Given the description of an element on the screen output the (x, y) to click on. 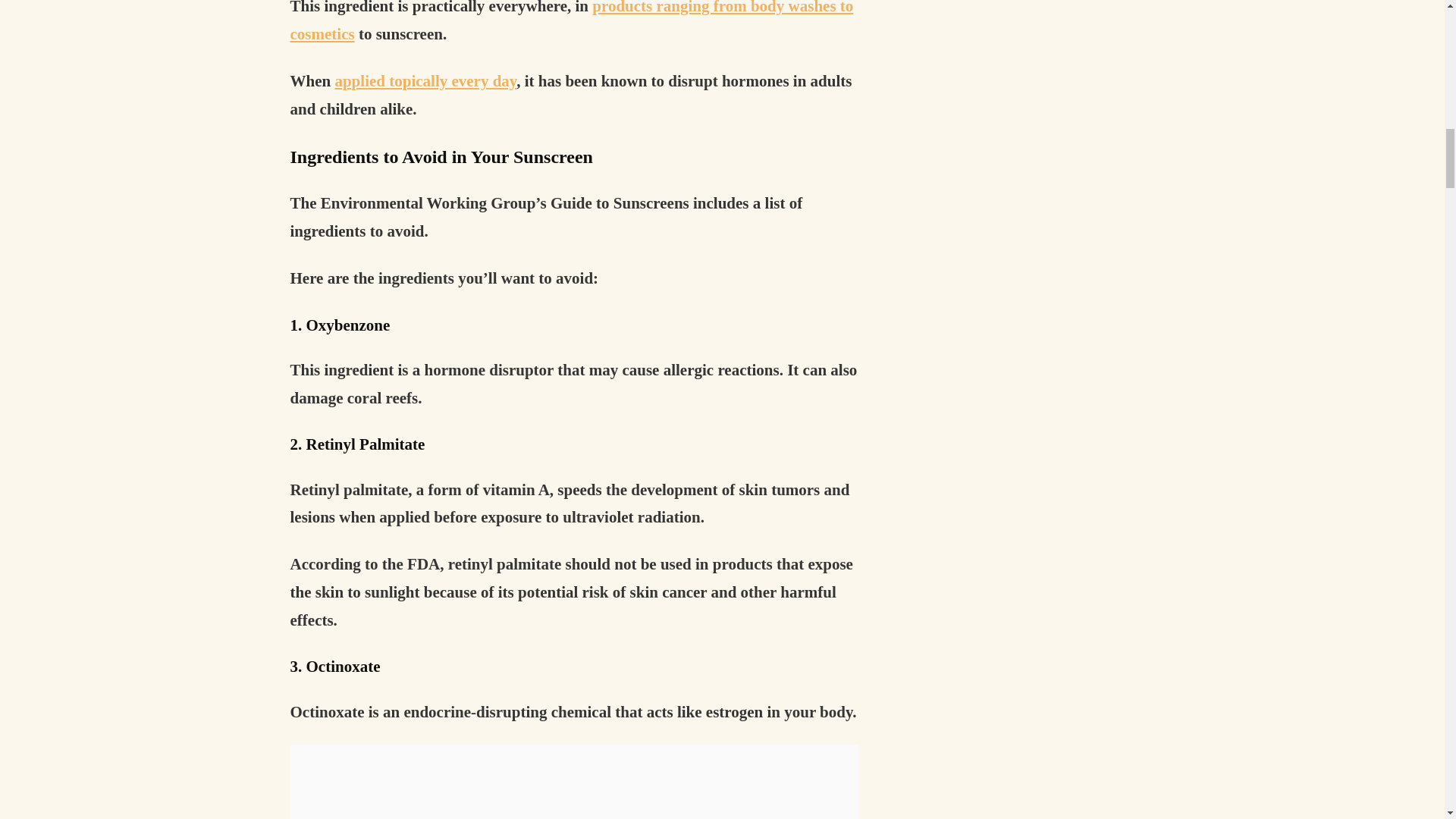
applied topically every day (425, 81)
products ranging from body washes to cosmetics (571, 21)
